Given the description of an element on the screen output the (x, y) to click on. 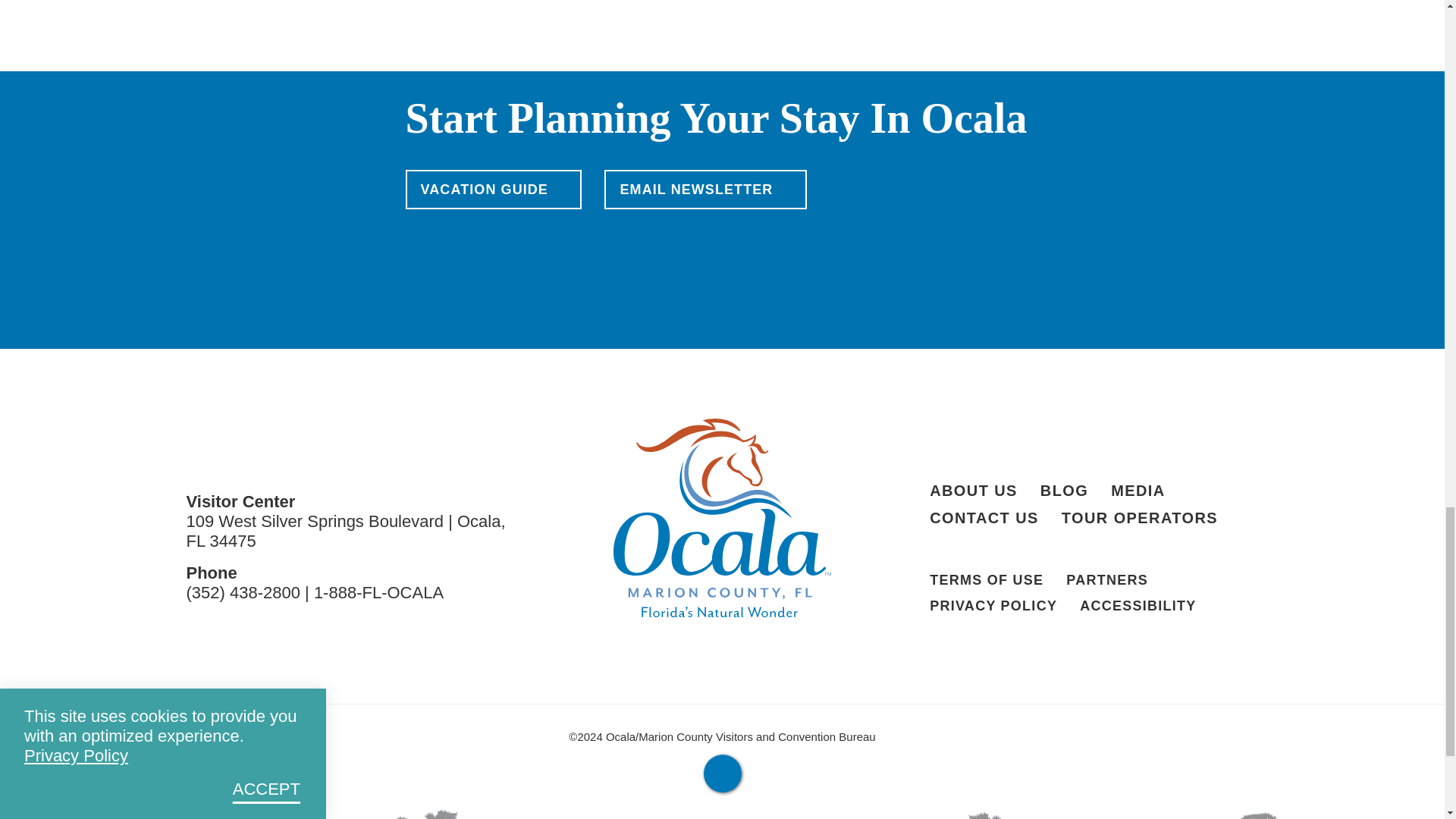
CONTACT US (984, 517)
VACATION GUIDE (492, 189)
TERMS OF USE (986, 580)
BLOG (1064, 490)
ACCESSIBILITY (1137, 605)
MEDIA (1137, 490)
EMAIL NEWSLETTER (705, 189)
PARTNERS (1106, 580)
ABOUT US (973, 490)
PRIVACY POLICY (993, 605)
